Given the description of an element on the screen output the (x, y) to click on. 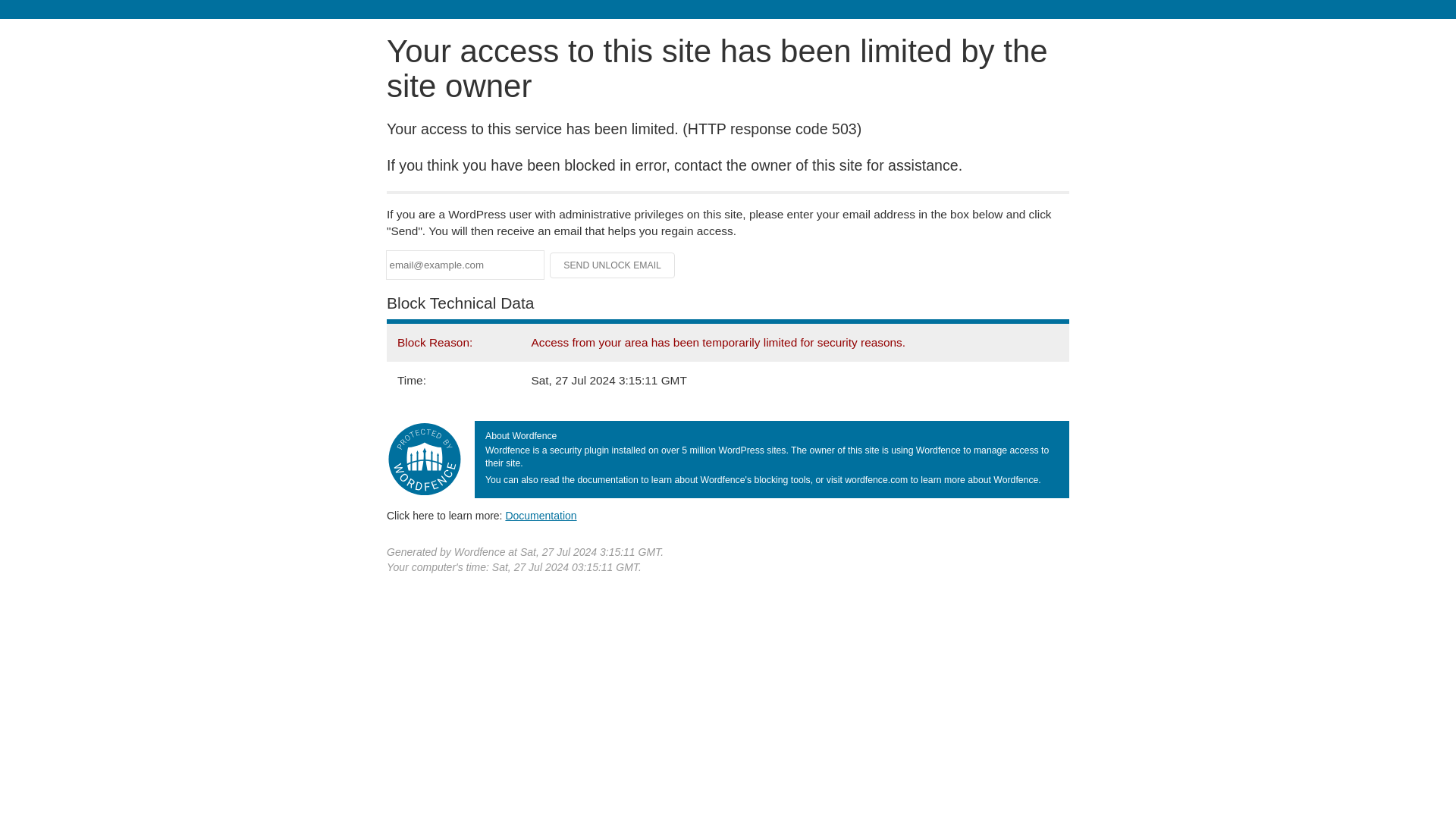
Documentation (540, 515)
Send Unlock Email (612, 265)
Send Unlock Email (612, 265)
